Given the description of an element on the screen output the (x, y) to click on. 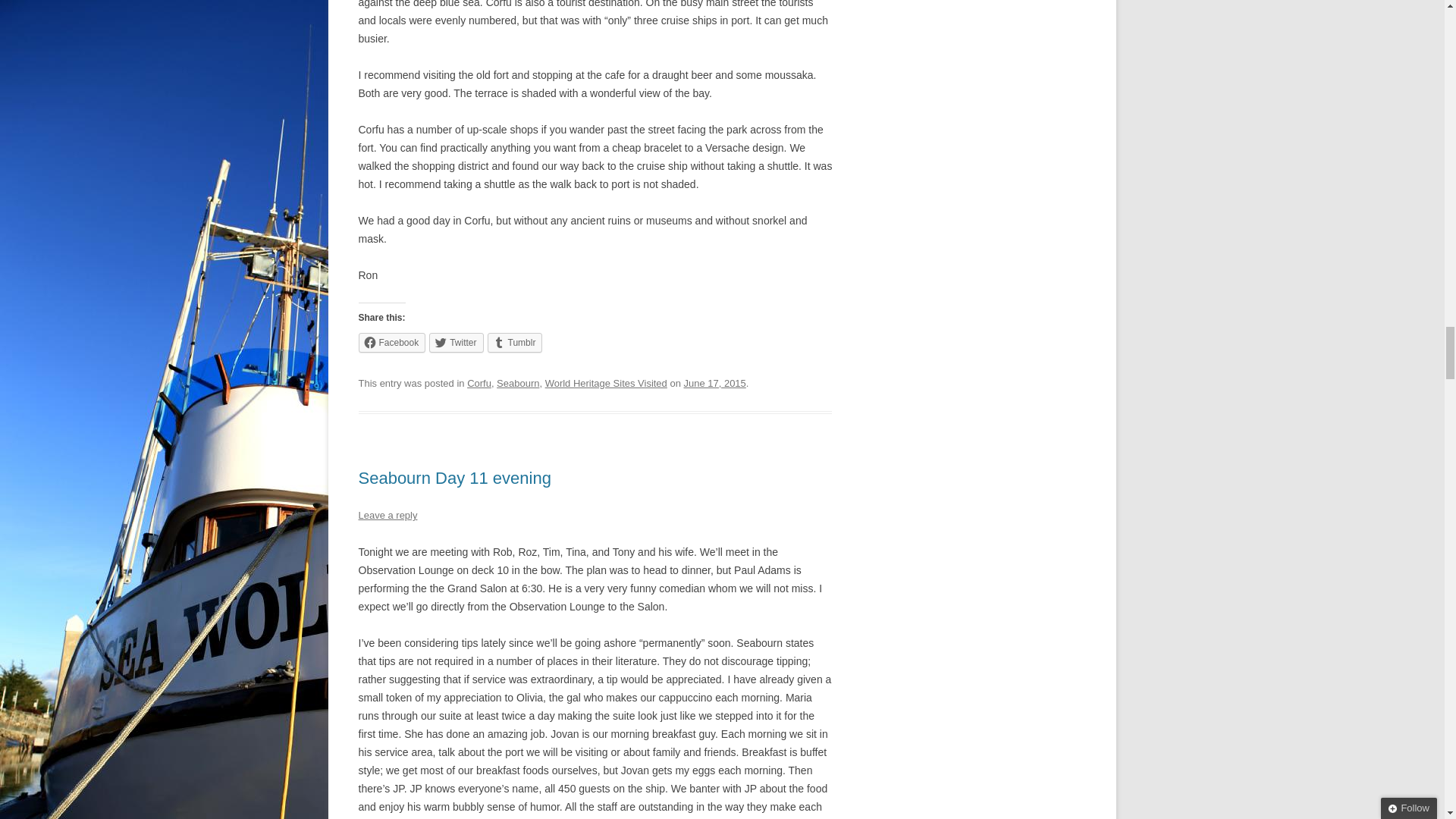
Facebook (391, 342)
